Given the description of an element on the screen output the (x, y) to click on. 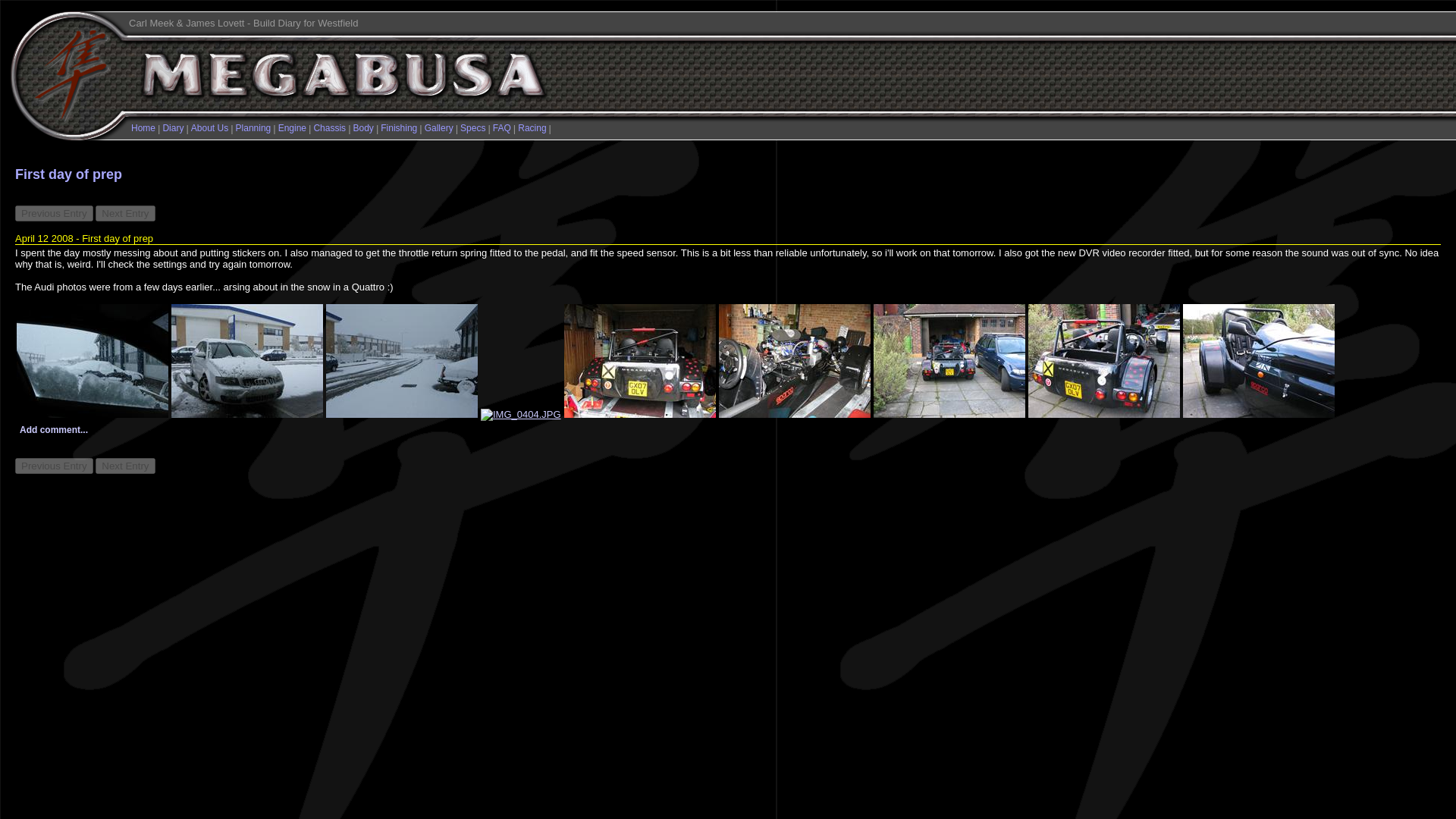
Racing (532, 127)
FAQ (502, 127)
Next Entry (125, 465)
Previous Entry (53, 465)
Home (143, 127)
Chassis (329, 127)
Add comment... (53, 429)
Finishing (398, 127)
Previous Entry (53, 213)
Planning (252, 127)
Diary (172, 127)
Gallery (438, 127)
Engine (291, 127)
Specs (472, 127)
Next Entry (125, 213)
